Given the description of an element on the screen output the (x, y) to click on. 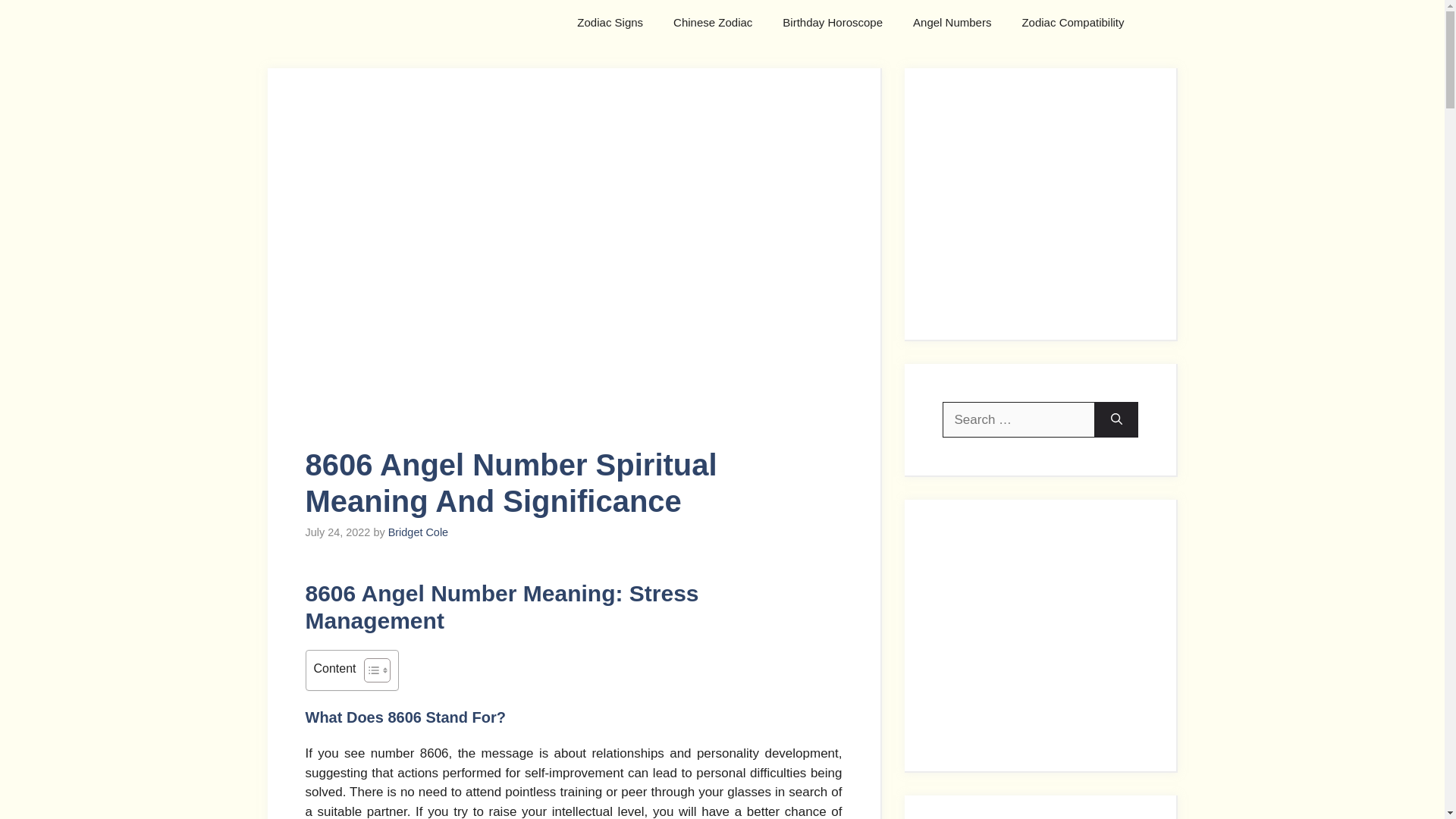
Bridget Cole (418, 532)
View all posts by Bridget Cole (418, 532)
Zodiac Compatibility (1072, 22)
Zodiac Signs (610, 22)
Angel Numbers (952, 22)
ZodiacSigns101 (395, 22)
Chinese Zodiac (712, 22)
Birthday Horoscope (832, 22)
